Given the description of an element on the screen output the (x, y) to click on. 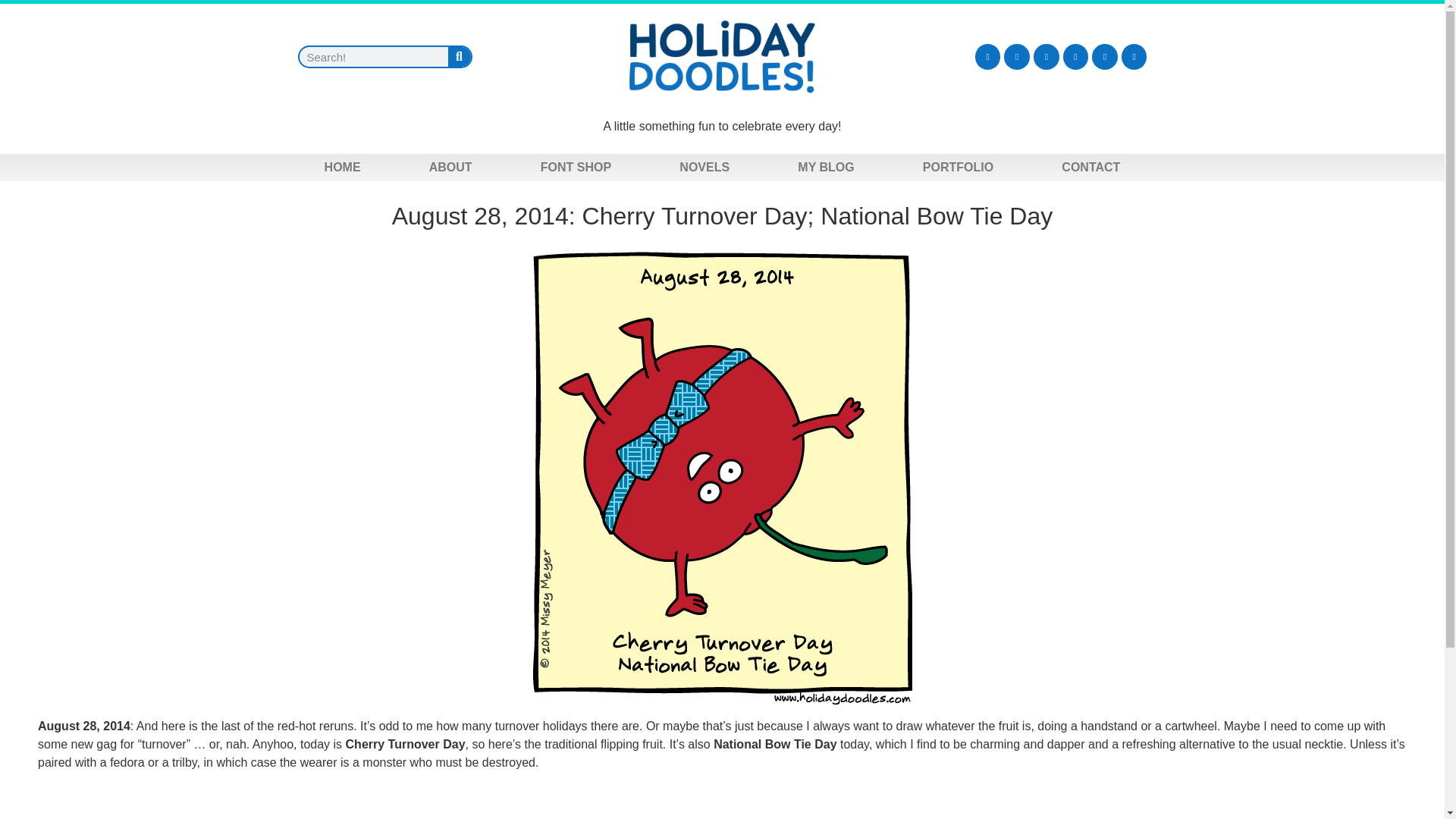
NOVELS (703, 166)
CONTACT (1090, 166)
MY BLOG (825, 166)
HOME (341, 166)
FONT SHOP (576, 166)
PORTFOLIO (957, 166)
ABOUT (450, 166)
